Given the description of an element on the screen output the (x, y) to click on. 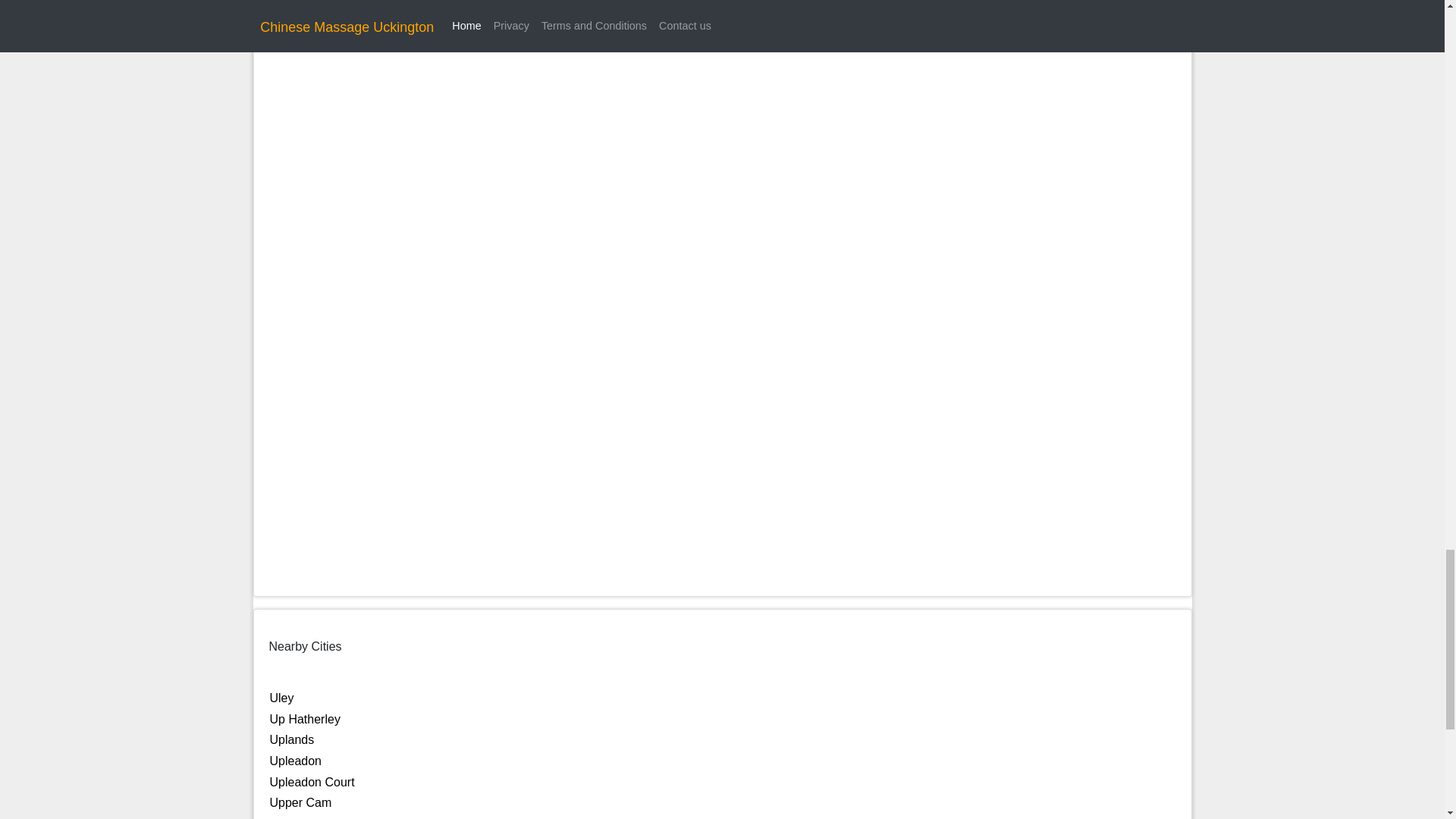
Upleadon (295, 760)
Upleadon Court (312, 781)
Uplands (291, 739)
Up Hatherley (304, 718)
Upper Cam (300, 802)
Upper Coberley (312, 818)
Uley (281, 697)
